Given the description of an element on the screen output the (x, y) to click on. 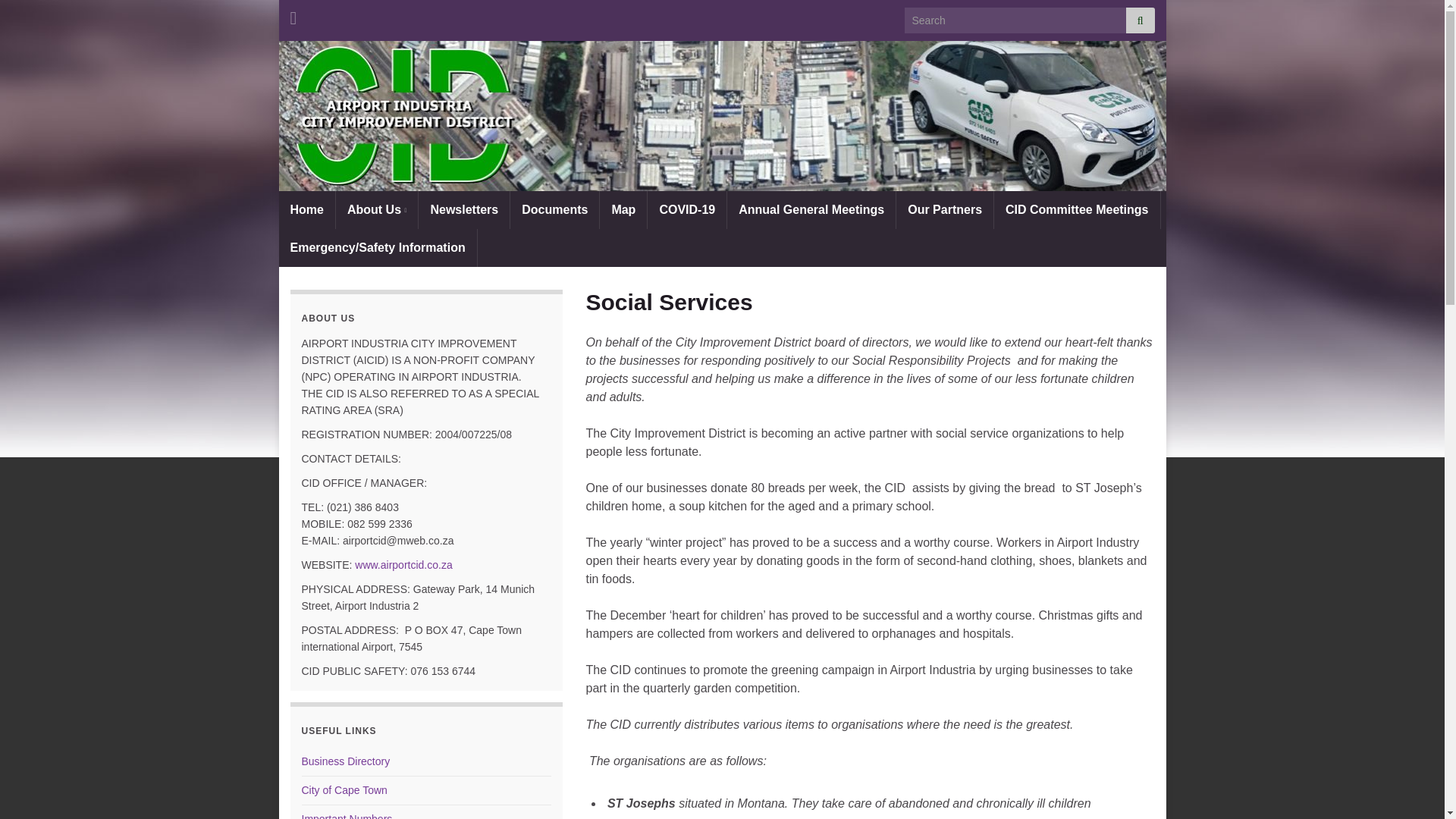
Business Directory (345, 761)
Business Directory (345, 761)
Annual General Meetings (810, 209)
COVID-19 (686, 209)
www.airportcid.co.za (403, 564)
Newsletters (464, 209)
Our Partners (944, 209)
Important Numbers (347, 816)
Map (622, 209)
CID Committee Meetings (1076, 209)
